Given the description of an element on the screen output the (x, y) to click on. 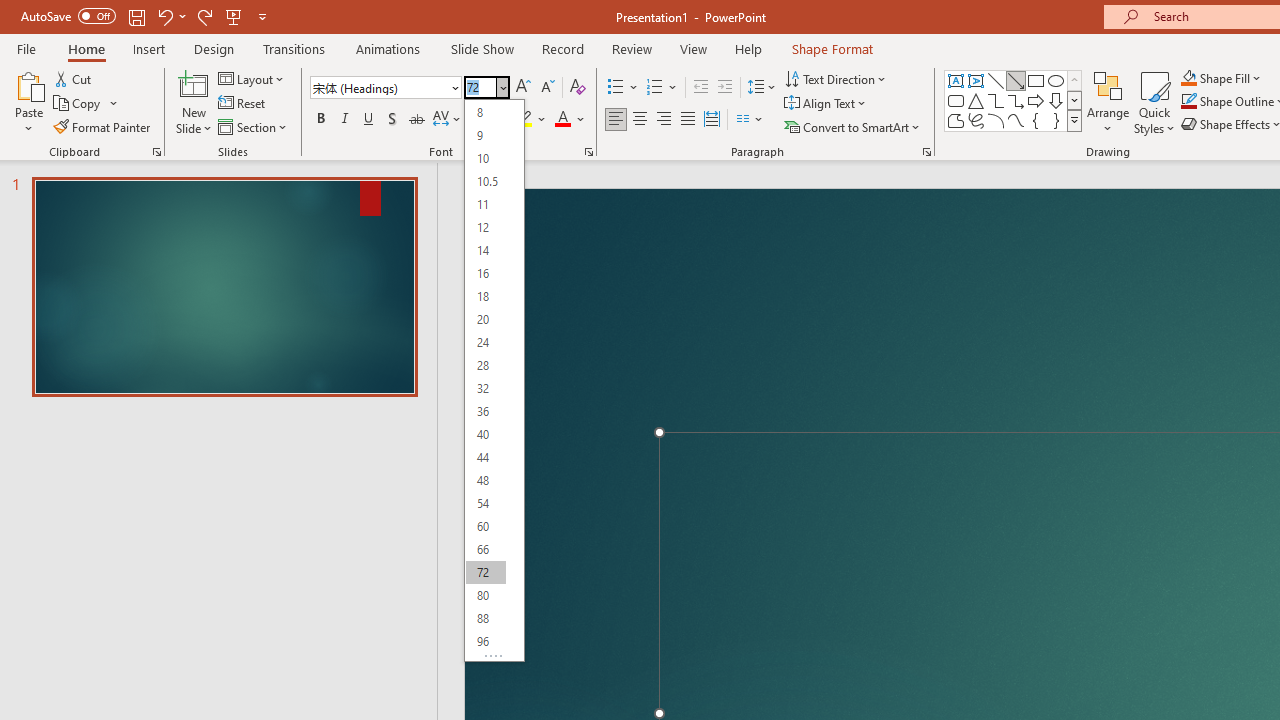
32 (485, 388)
96 (485, 641)
